Given the description of an element on the screen output the (x, y) to click on. 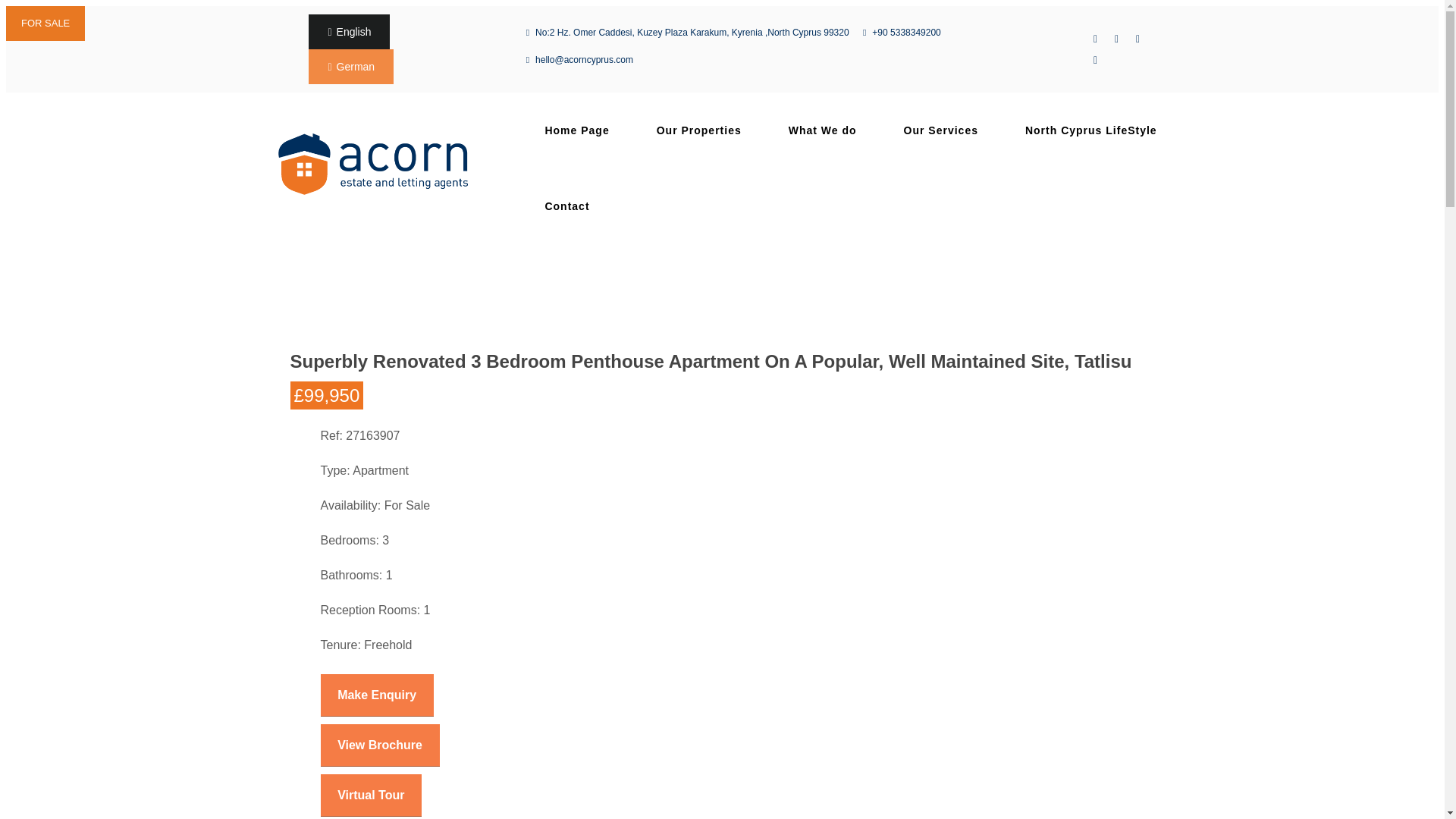
Instagram (1095, 59)
German (355, 66)
English (353, 31)
Contact (566, 205)
What We do (822, 130)
Our Properties (699, 130)
Our Services (940, 130)
Facebook (1116, 38)
Home Page (576, 130)
LinkedIn (1138, 38)
